Given the description of an element on the screen output the (x, y) to click on. 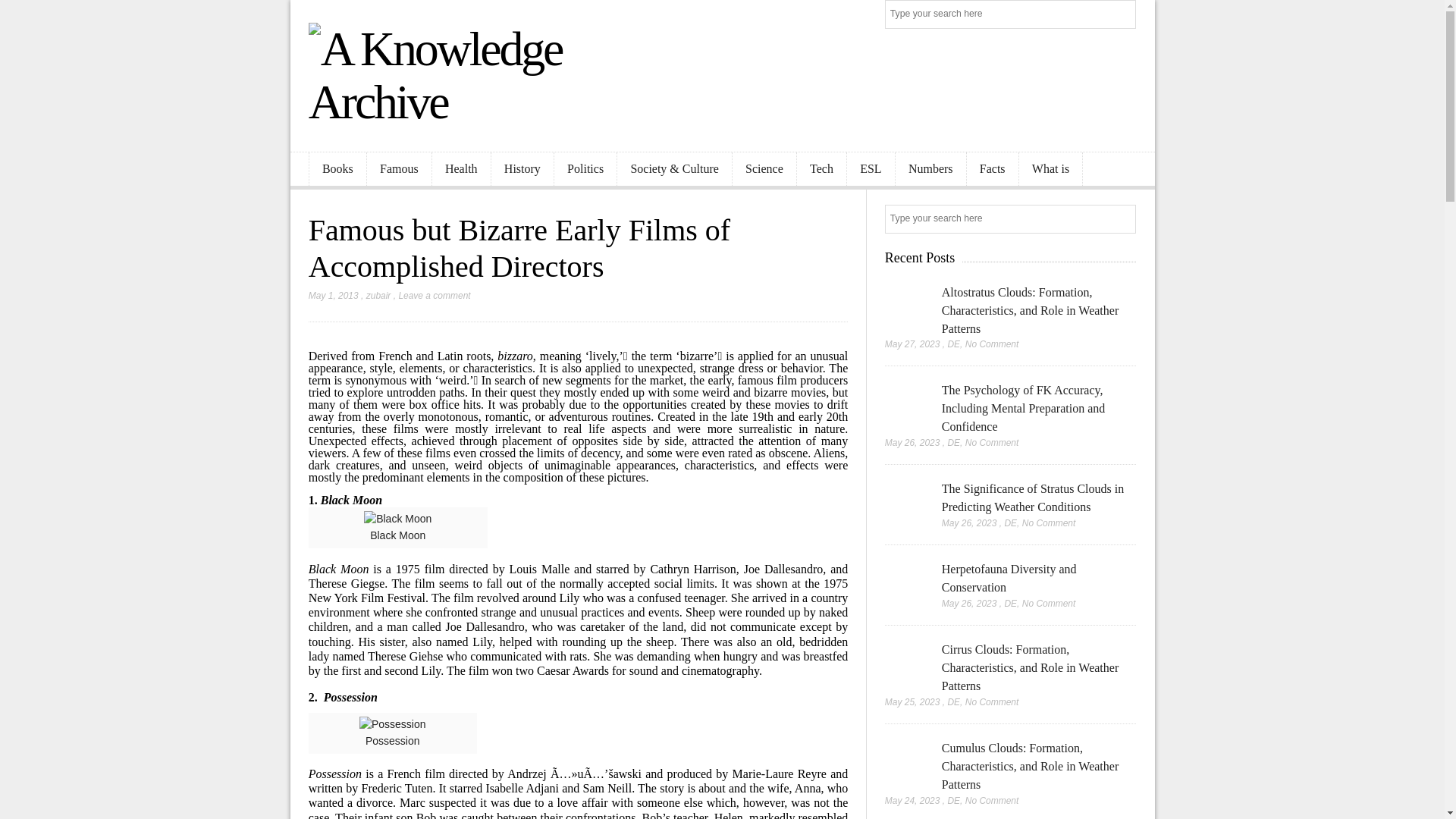
What is (1051, 169)
Health (461, 169)
Search (1123, 15)
zubair (378, 295)
DE (953, 344)
Posts by zubair (378, 295)
DE (953, 442)
History (522, 169)
Science (764, 169)
Leave a comment (433, 295)
Posts by DE (953, 442)
Numbers (930, 169)
